Given the description of an element on the screen output the (x, y) to click on. 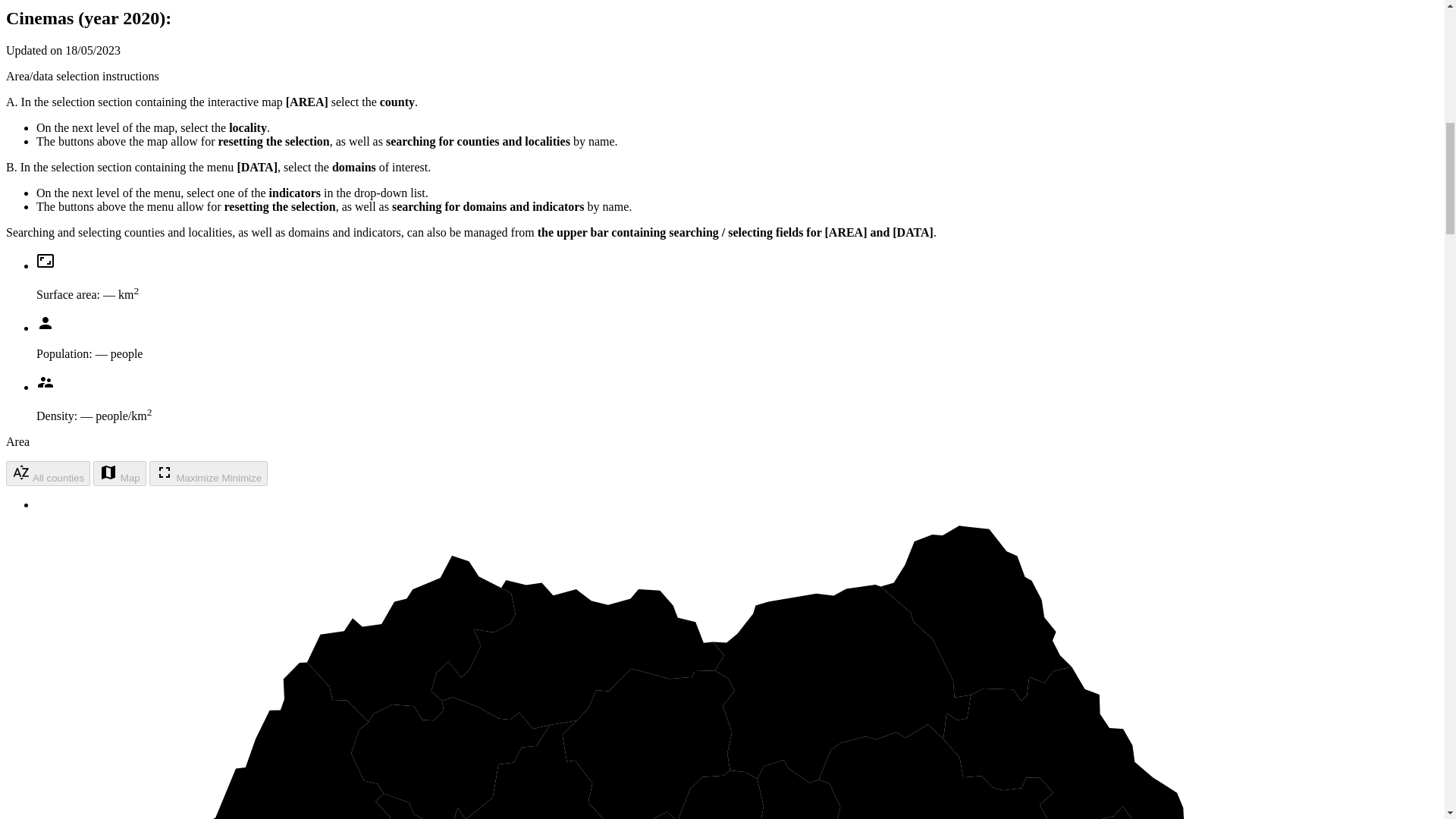
Map (120, 473)
All counties (47, 473)
Maximize Minimize (208, 473)
